Given the description of an element on the screen output the (x, y) to click on. 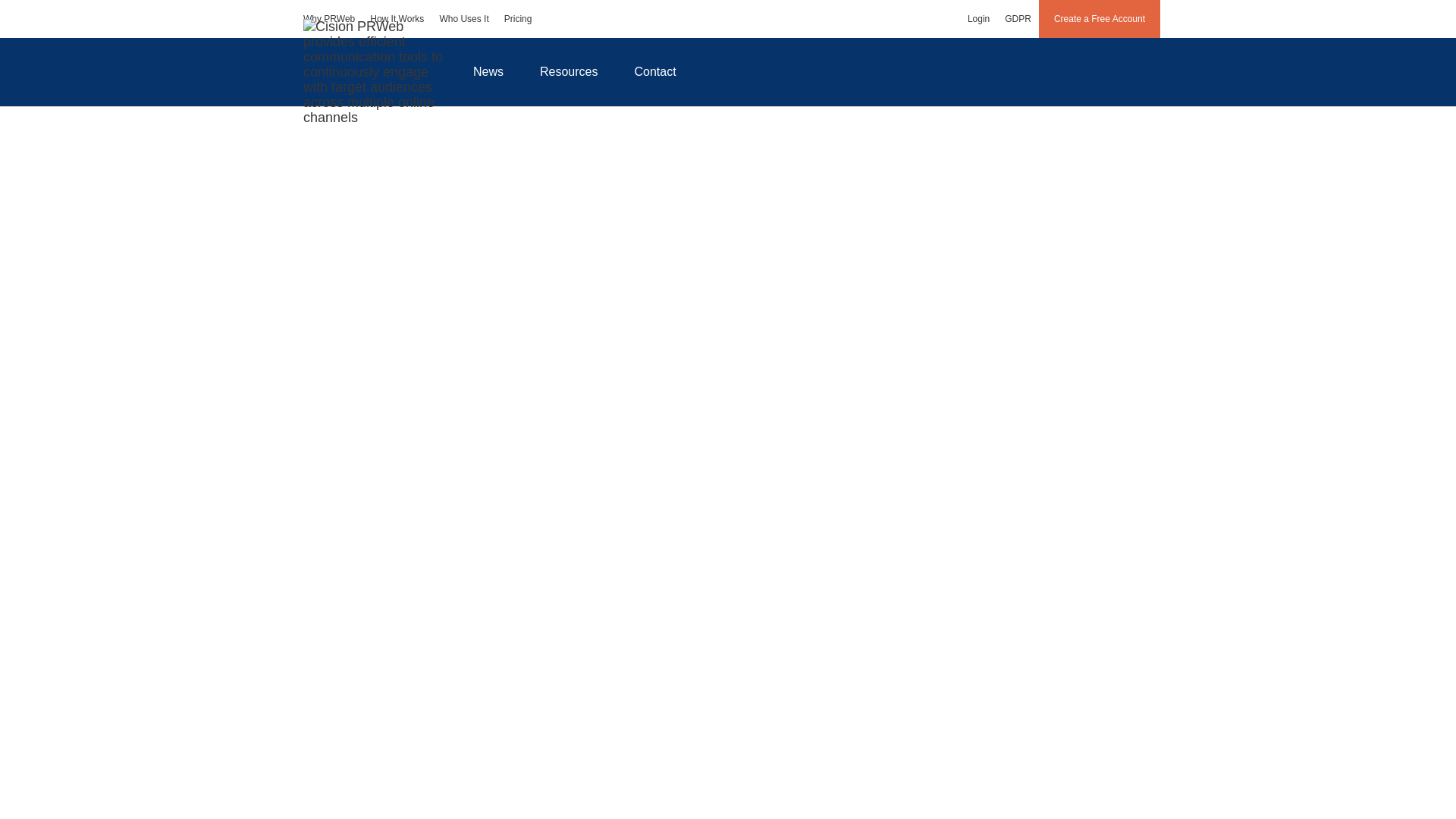
How It Works (396, 18)
Login (978, 18)
Resources (568, 71)
Create a Free Account (1099, 18)
Why PRWeb (328, 18)
Who Uses It (463, 18)
News (487, 71)
Pricing (518, 18)
GDPR (1018, 18)
Contact (654, 71)
